Given the description of an element on the screen output the (x, y) to click on. 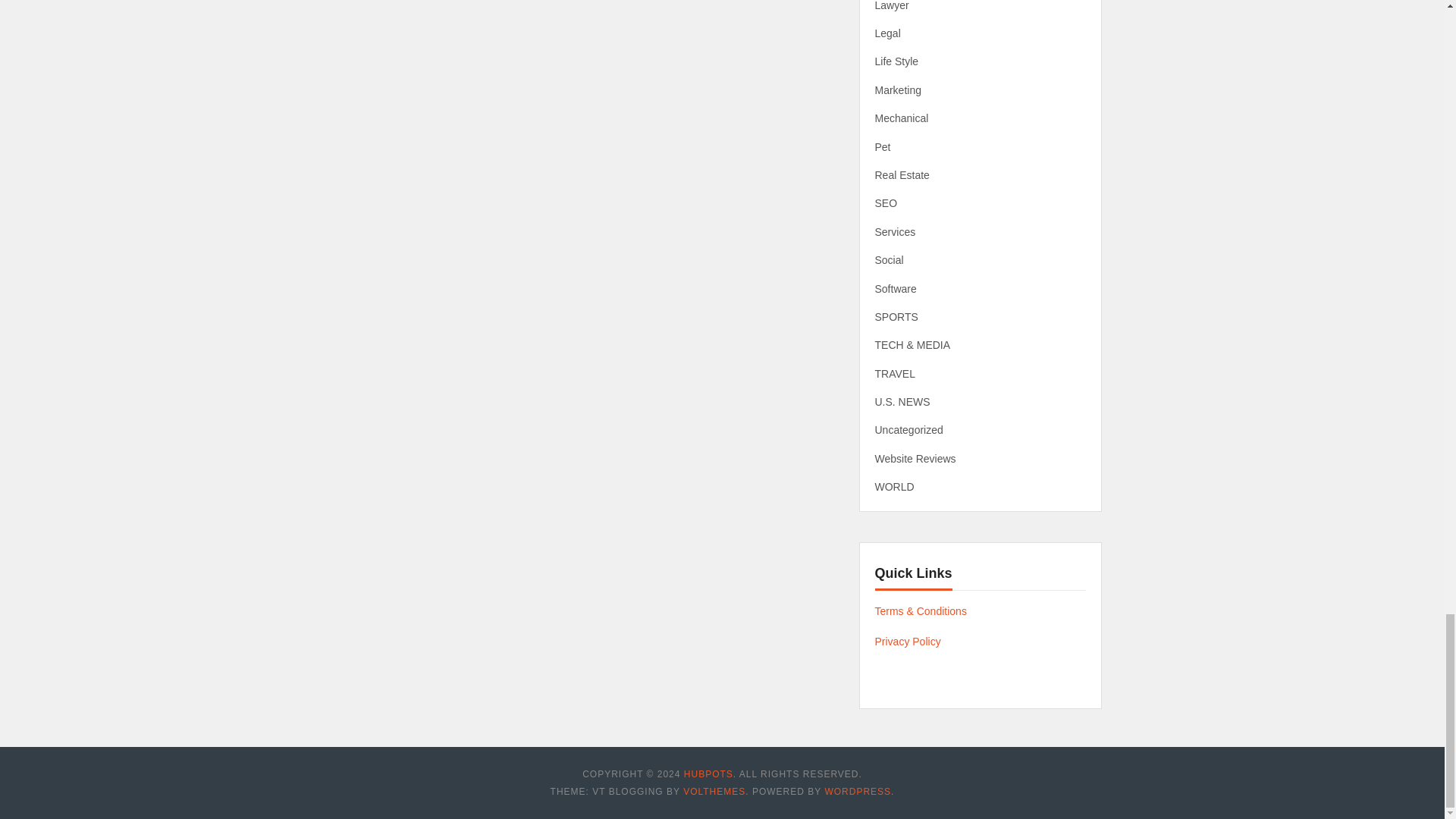
WordPress (857, 791)
VolThemes (713, 791)
HubPots (708, 774)
